Given the description of an element on the screen output the (x, y) to click on. 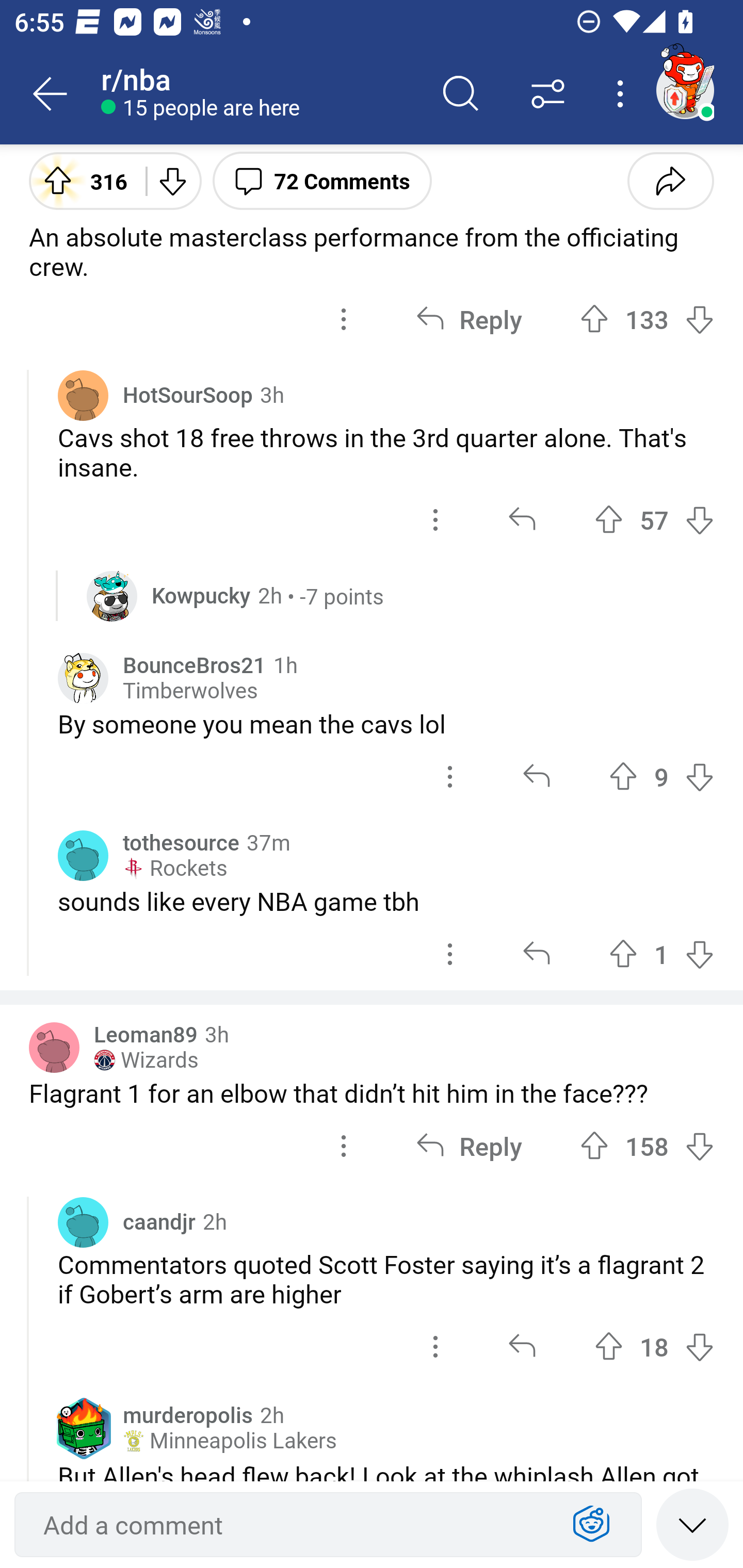
Back (50, 93)
TestAppium002 account (685, 90)
Search comments (460, 93)
Sort comments (547, 93)
More options (623, 93)
r/nba 15 people are here (259, 93)
Upvote 316 (79, 180)
Downvote (171, 180)
72 Comments (321, 180)
Share (670, 180)
options (343, 319)
Reply (469, 319)
Upvote 133 133 votes Downvote (647, 319)
Avatar (82, 395)
options (435, 520)
Upvote 57 57 votes Downvote (654, 520)
Custom avatar (111, 595)
Custom avatar (82, 678)
Timberwolves (190, 691)
By someone you mean the cavs lol (385, 723)
options (449, 776)
Upvote 9 9 votes Downvote (661, 776)
Avatar (82, 856)
￼ Rockets (174, 868)
sounds like every NBA game tbh (385, 901)
options (449, 954)
Upvote 1 1 vote Downvote (661, 954)
Avatar (53, 1047)
￼ Wizards (145, 1059)
options (343, 1146)
Reply (469, 1146)
Upvote 158 158 votes Downvote (647, 1146)
Avatar (82, 1221)
options (435, 1346)
Upvote 18 18 votes Downvote (654, 1346)
￼ Minneapolis Lakers (229, 1440)
Speed read (692, 1524)
Add a comment (291, 1524)
Show Expressions (590, 1524)
